Given the description of an element on the screen output the (x, y) to click on. 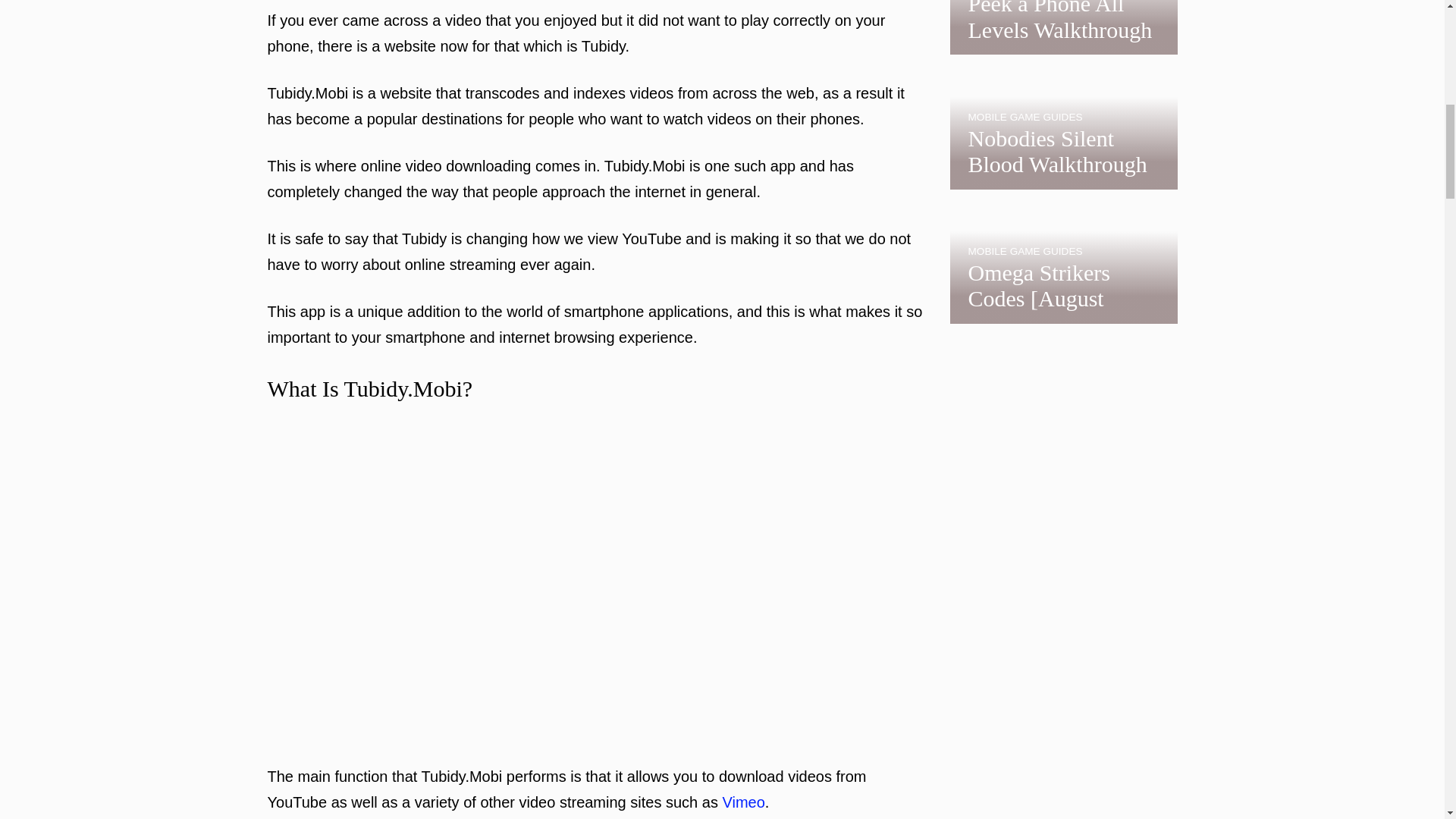
MOBILE GAME GUIDES (1024, 116)
Vimeo (743, 801)
MOBILE GAME GUIDES (1024, 251)
